Given the description of an element on the screen output the (x, y) to click on. 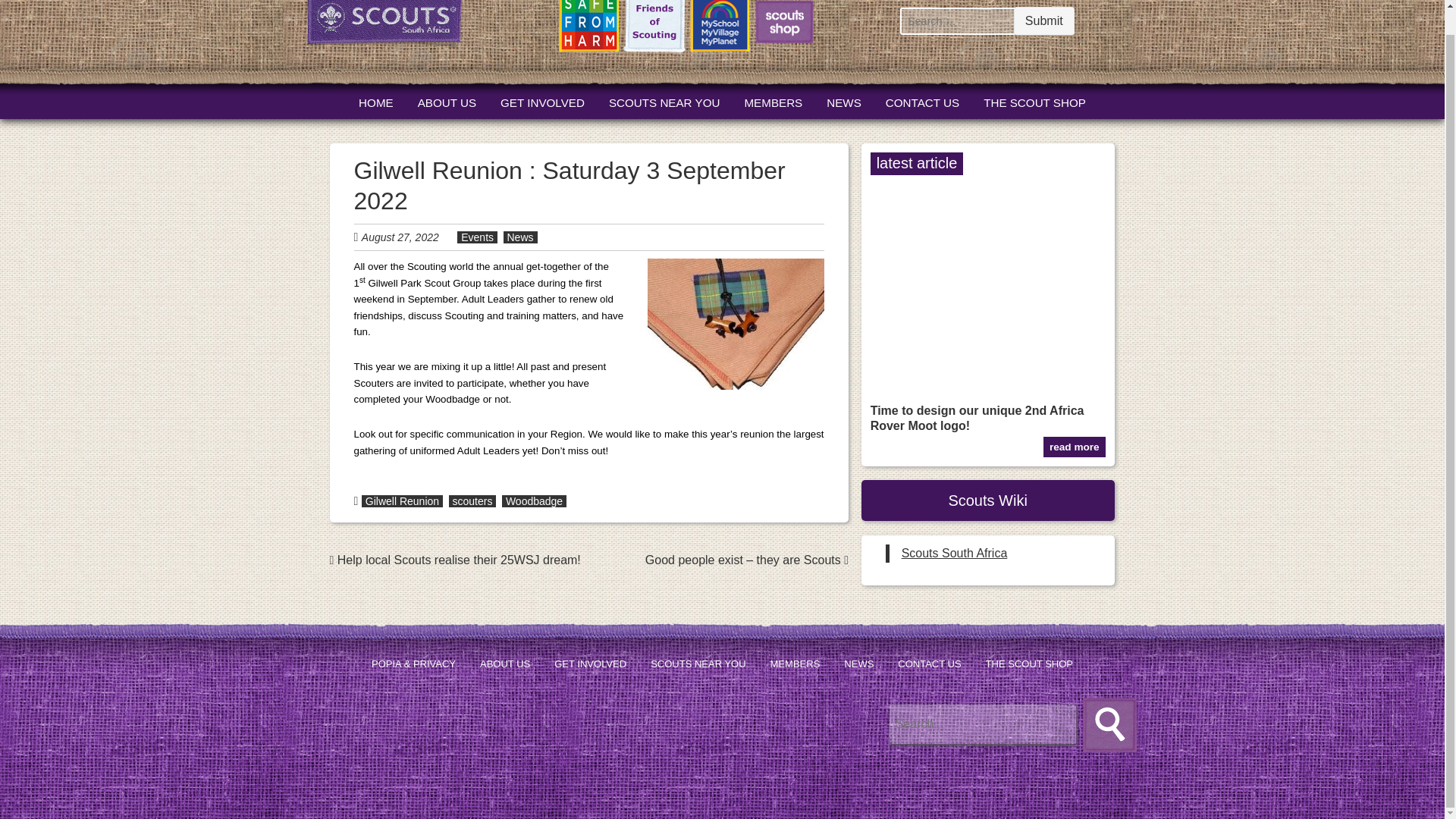
ABOUT US (446, 103)
GET INVOLVED (542, 103)
Submit (1043, 21)
Skip to content (386, 104)
Scouts Shop (784, 25)
Safe from hard (588, 28)
Submit (1043, 21)
Friends of Scouting (654, 28)
MEMBERS (773, 103)
SCOUTS NEAR YOU (664, 103)
